Given the description of an element on the screen output the (x, y) to click on. 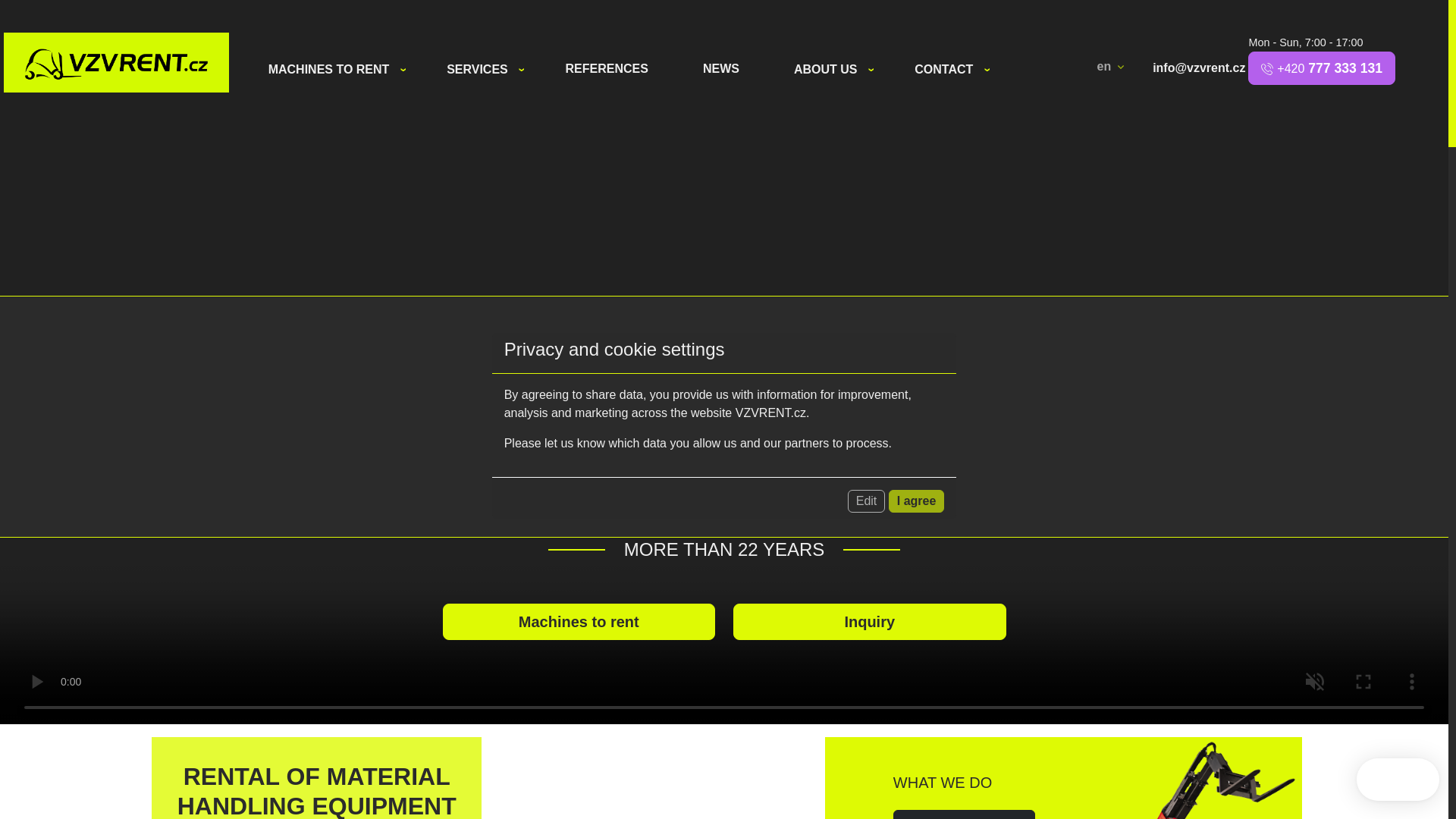
ABOUT US (832, 69)
en (1111, 66)
Machines to rent (579, 621)
MACHINES TO RENT (336, 69)
SERVICES (484, 69)
Inquiry (869, 621)
REFERENCES (607, 68)
CONTACT (951, 69)
NEWS (721, 68)
